Given the description of an element on the screen output the (x, y) to click on. 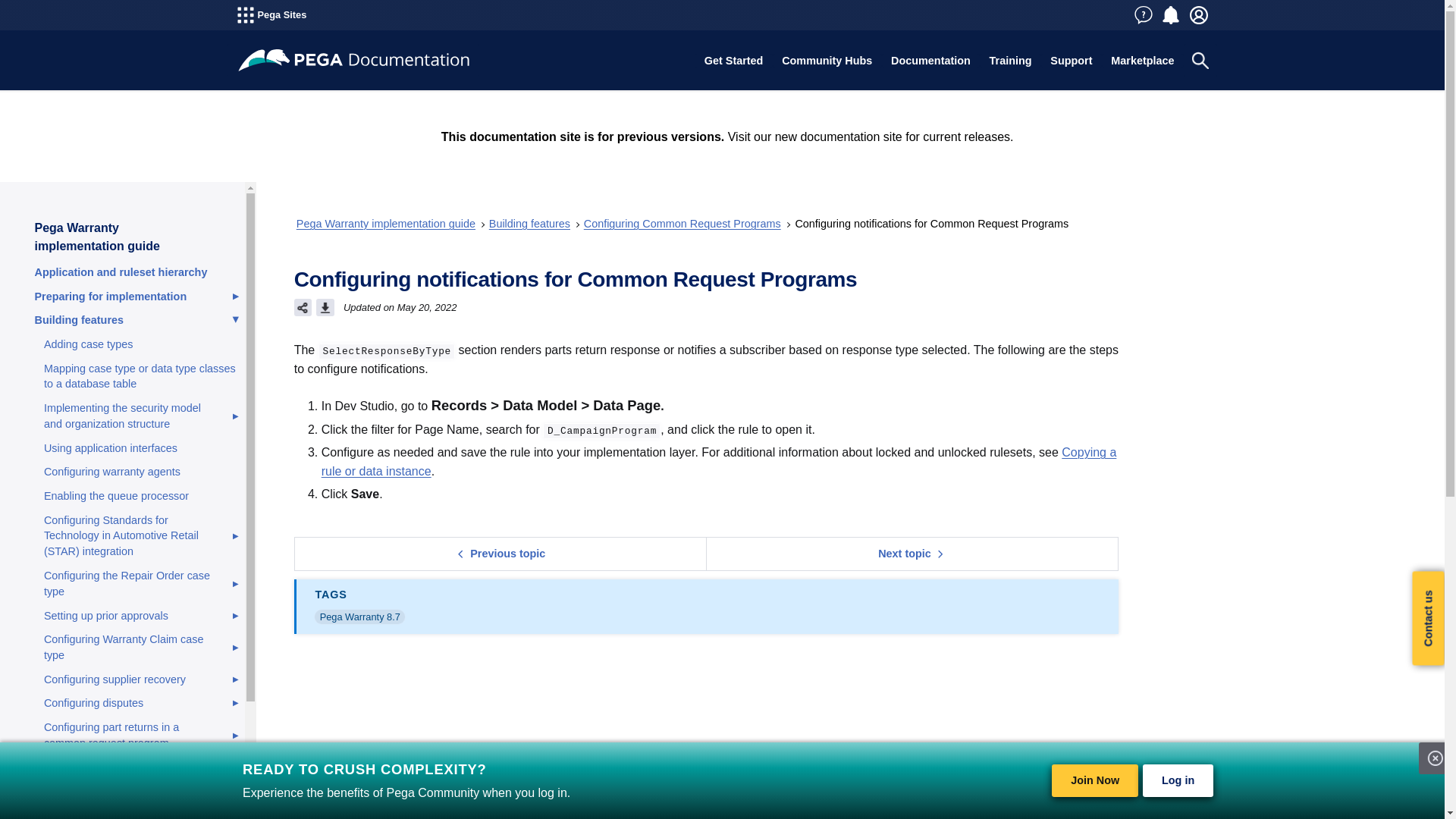
Get Started (732, 60)
Toggle Search Panel (1200, 60)
Community Hubs (827, 60)
